Given the description of an element on the screen output the (x, y) to click on. 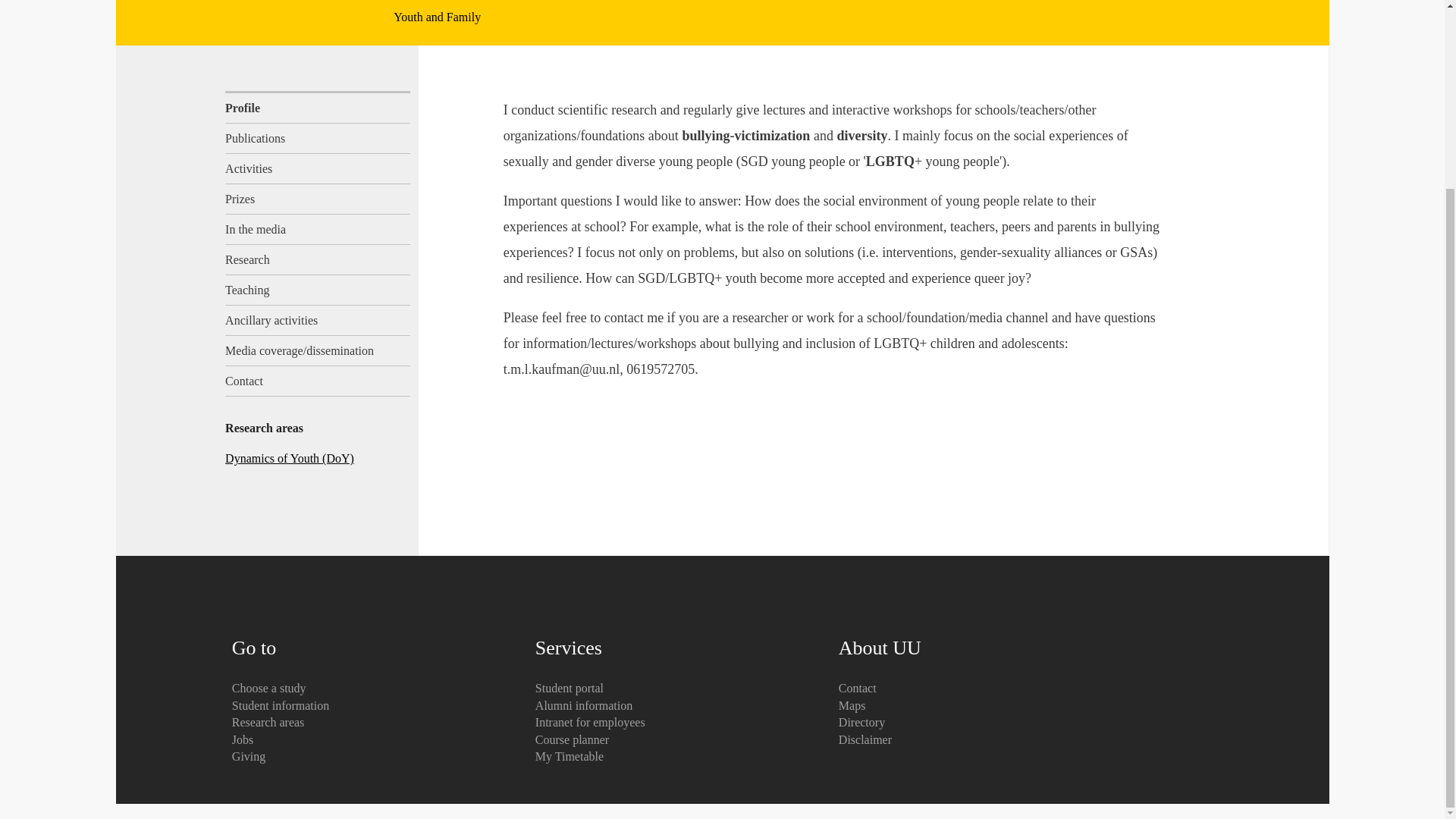
Ancillary activities (317, 320)
Publications (317, 138)
Activities (317, 168)
Research areas (267, 721)
Jobs (242, 738)
Research (317, 259)
Profile (317, 106)
Choose a study (268, 687)
Giving (247, 756)
Prizes (317, 199)
